Given the description of an element on the screen output the (x, y) to click on. 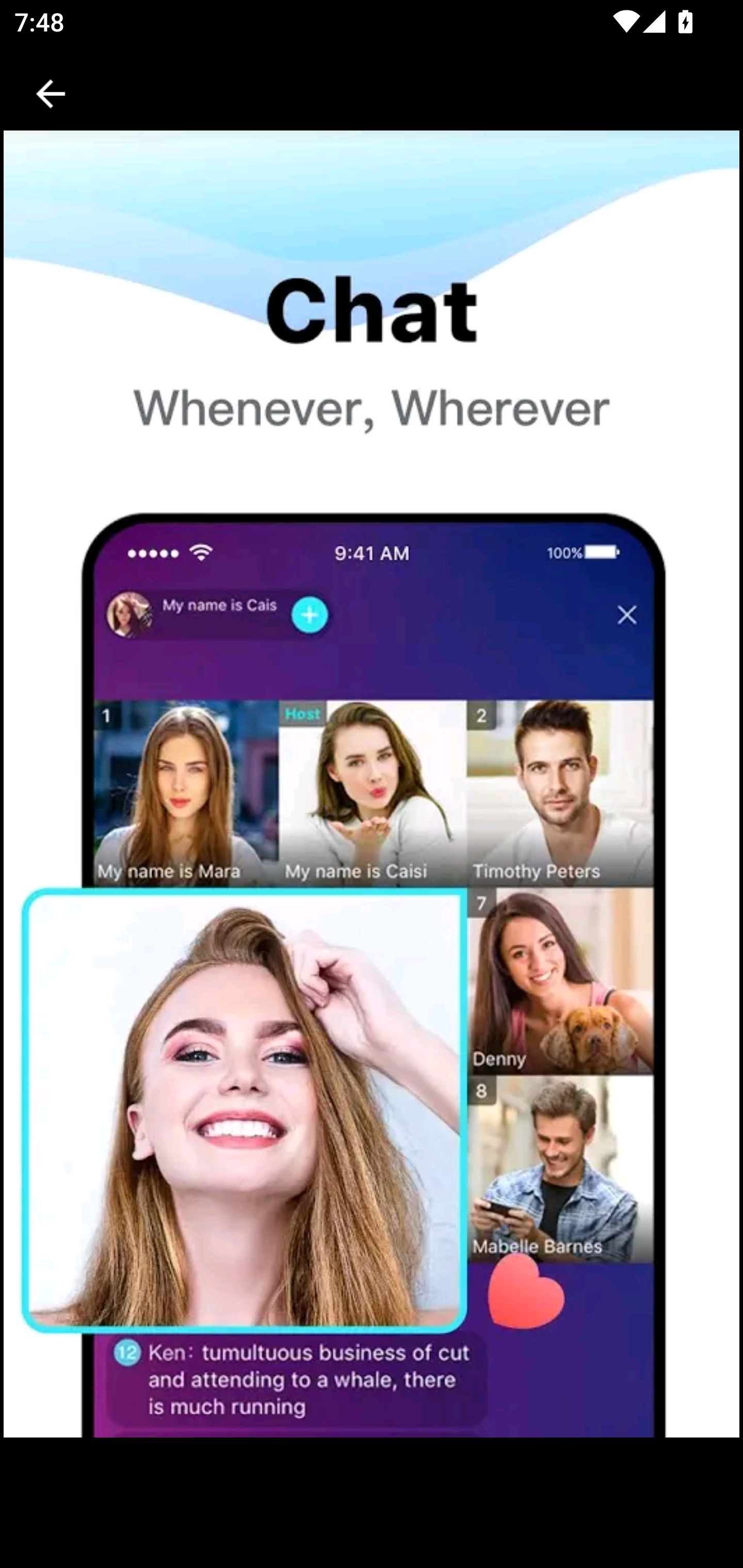
Back (50, 93)
